Given the description of an element on the screen output the (x, y) to click on. 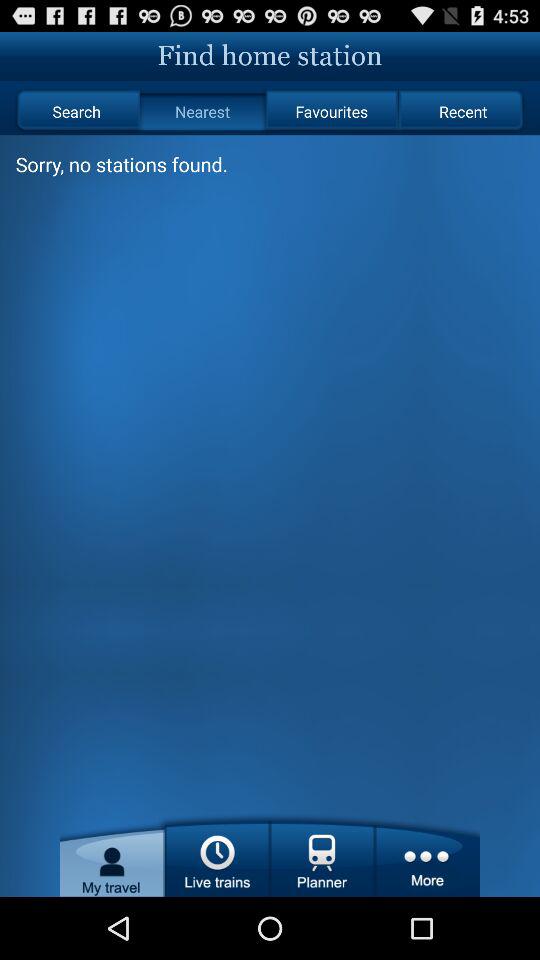
open the app above the sorry no stations icon (76, 111)
